Given the description of an element on the screen output the (x, y) to click on. 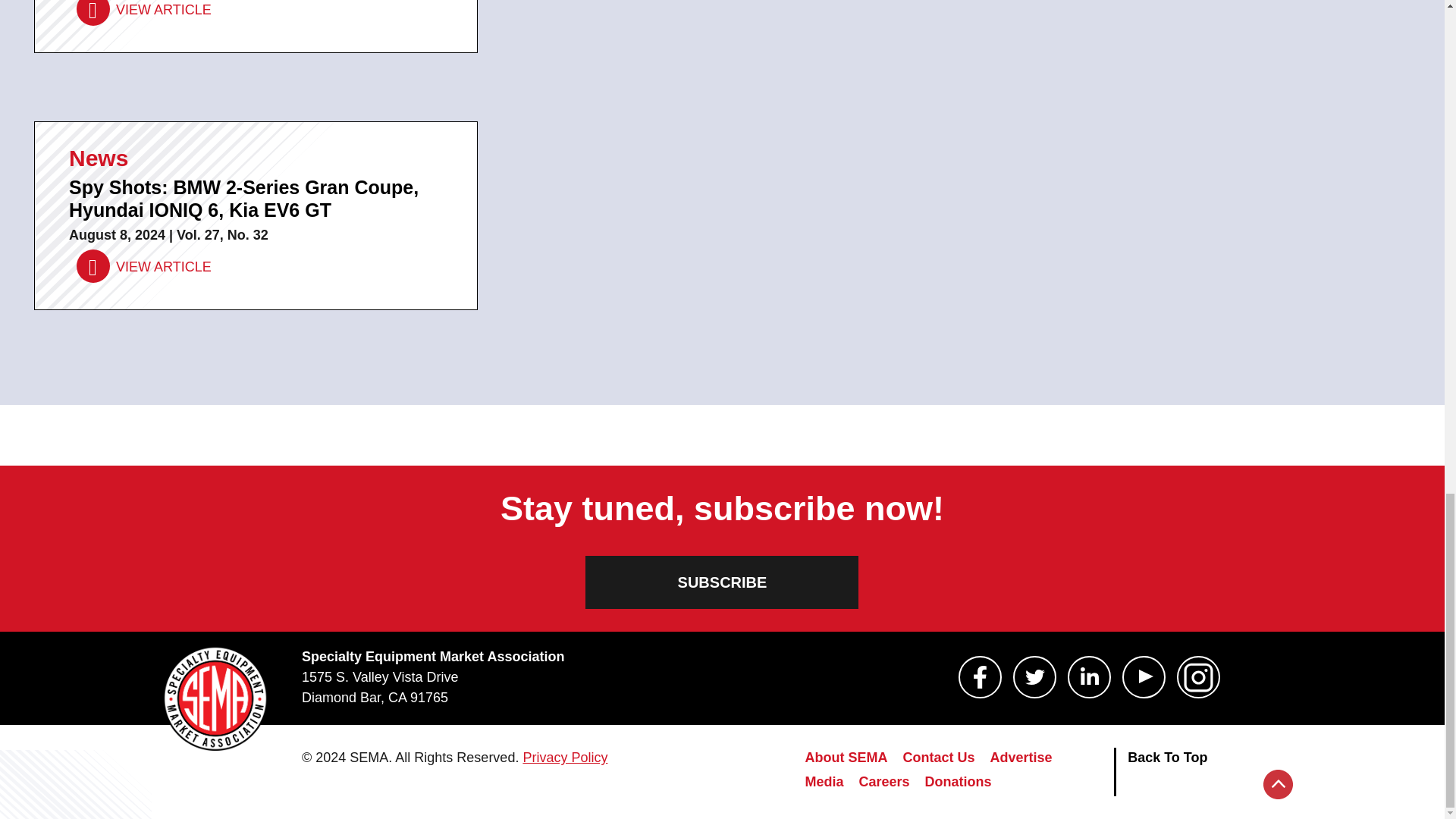
SUBSCRIBE (722, 582)
SEMA Facebook Link (979, 677)
SEMA Instagram Link (1198, 677)
SEMA LinkedIn Link (1088, 677)
SEMA Twitter Link (1035, 677)
SEMA YouTube Link (1144, 677)
Privacy Policy (564, 757)
VIEW ARTICLE (143, 12)
VIEW ARTICLE (143, 266)
